Given the description of an element on the screen output the (x, y) to click on. 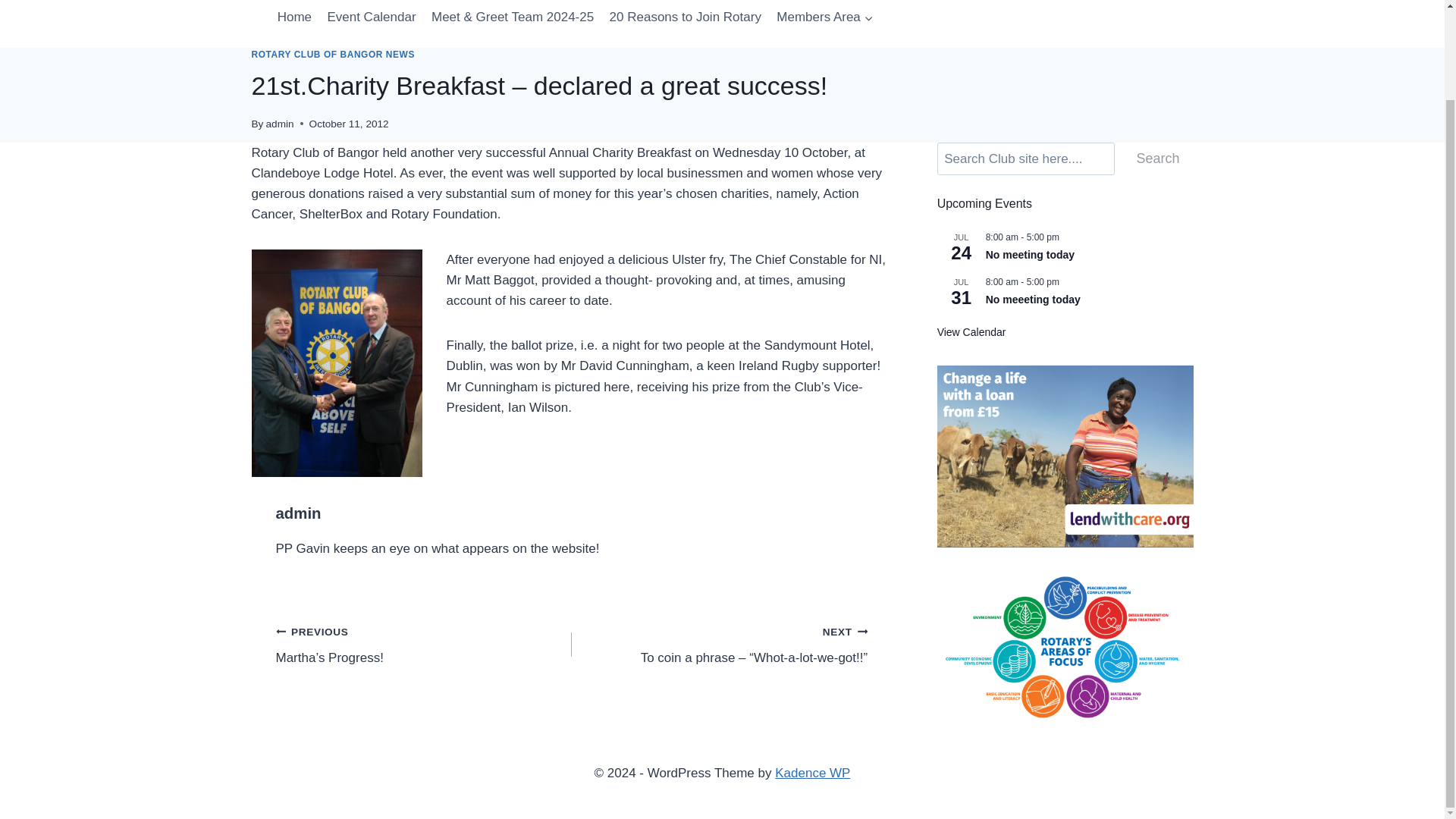
ROTARY CLUB OF BANGOR NEWS (332, 54)
View Calendar (971, 332)
No meeeting today (1032, 299)
Members Area (824, 18)
admin (280, 123)
Search (1157, 158)
admin (298, 513)
No meeting today (1029, 254)
View more events. (971, 332)
Posts by admin (298, 513)
No meeting today (1029, 254)
No meeeting today (1032, 299)
Event Calendar (370, 18)
Rotary Breakfast Pic of Ballot winner 2012 (336, 362)
Home (294, 18)
